Given the description of an element on the screen output the (x, y) to click on. 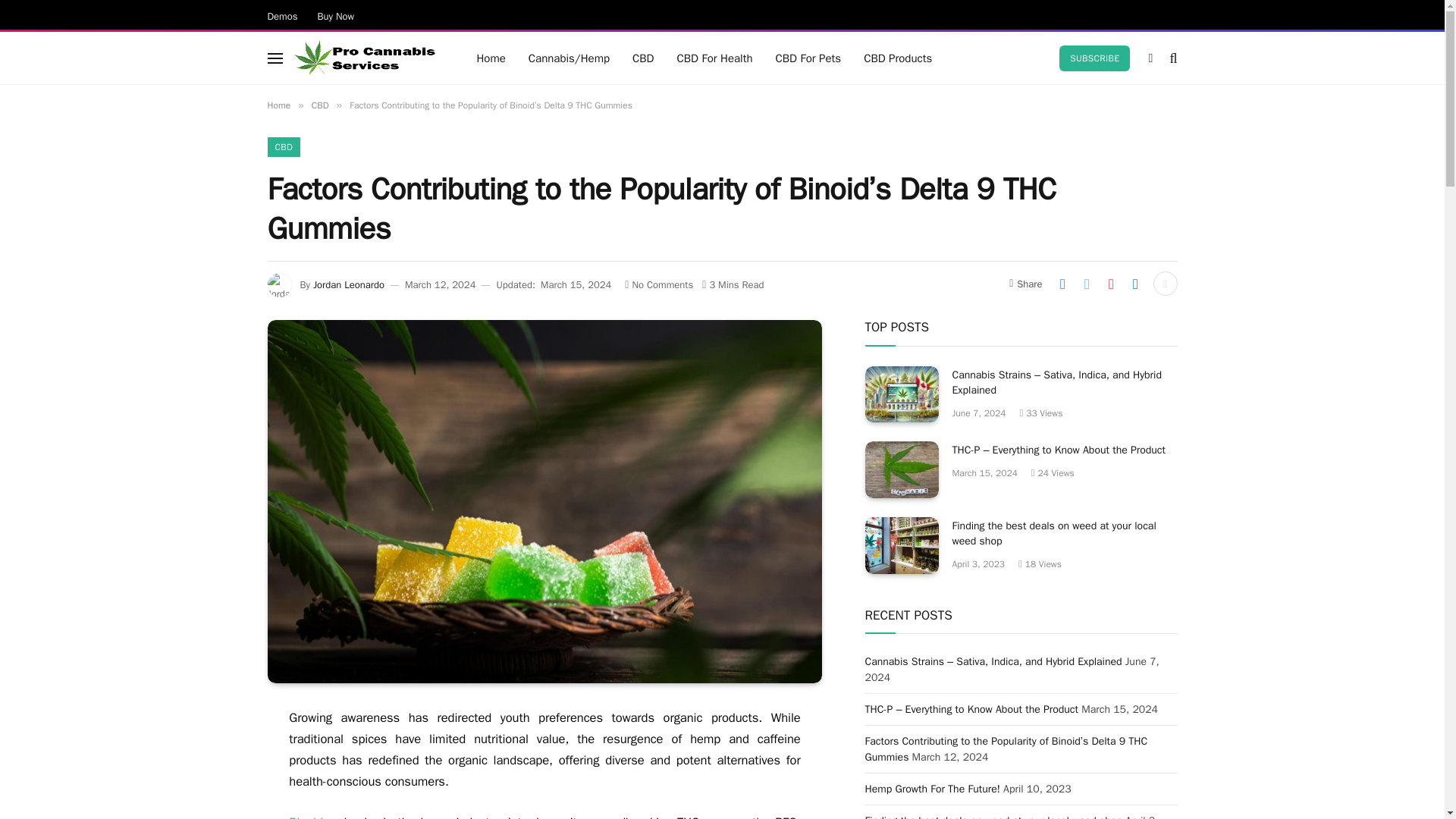
Demos (282, 15)
CBD (320, 105)
Posts by Jordan Leonardo (348, 284)
SUBSCRIBE (1094, 58)
Share on LinkedIn (1135, 283)
Switch to Dark Design - easier on eyes. (1149, 57)
Share on Facebook (1062, 283)
CBD For Pets (808, 57)
Jordan Leonardo (348, 284)
No Comments (658, 284)
